Given the description of an element on the screen output the (x, y) to click on. 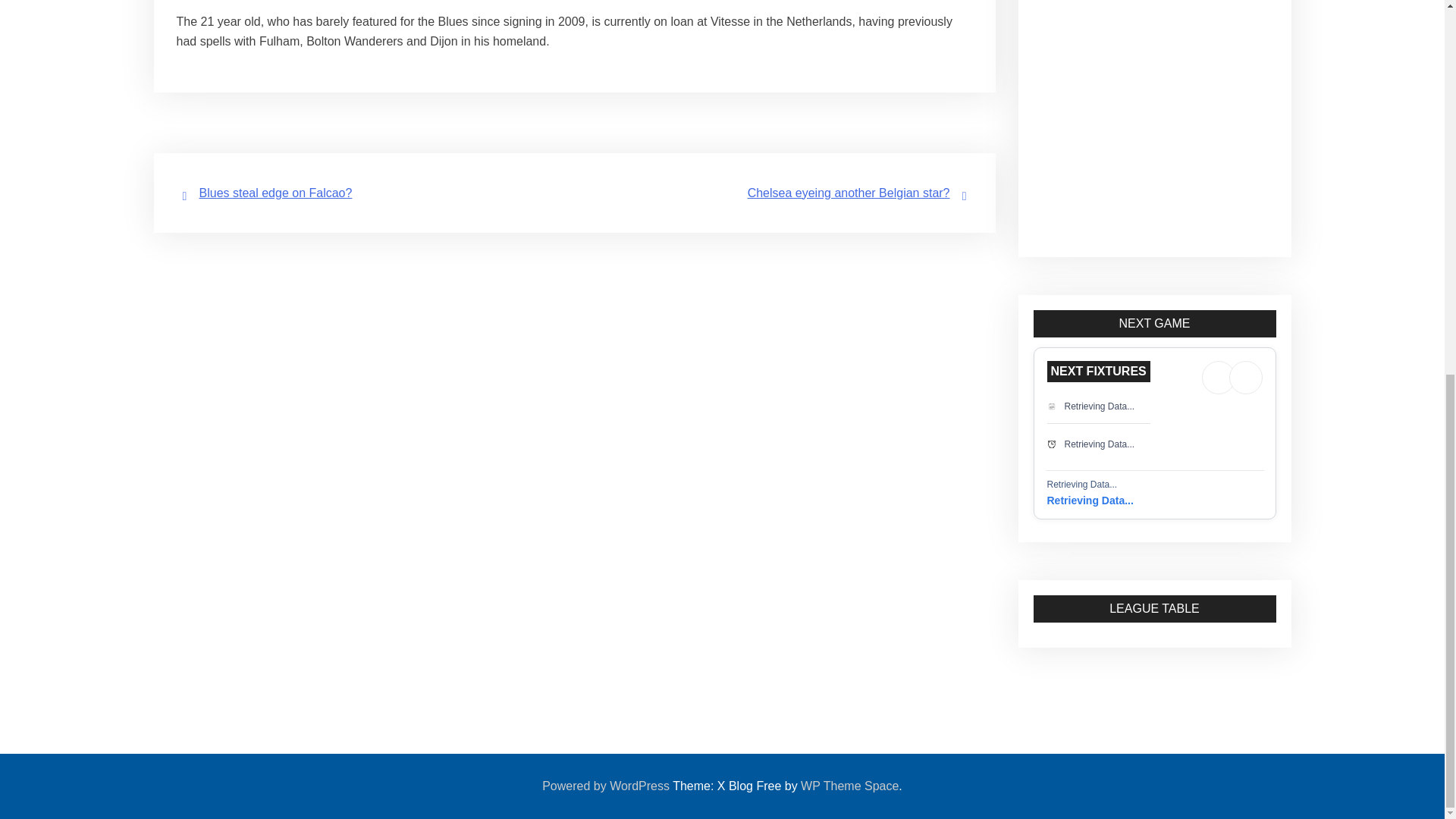
Powered by WordPress (605, 786)
Retrieving Data... (1090, 499)
Chelsea eyeing another Belgian star? (849, 192)
Blues steal edge on Falcao? (275, 192)
WP Theme Space (849, 786)
